Given the description of an element on the screen output the (x, y) to click on. 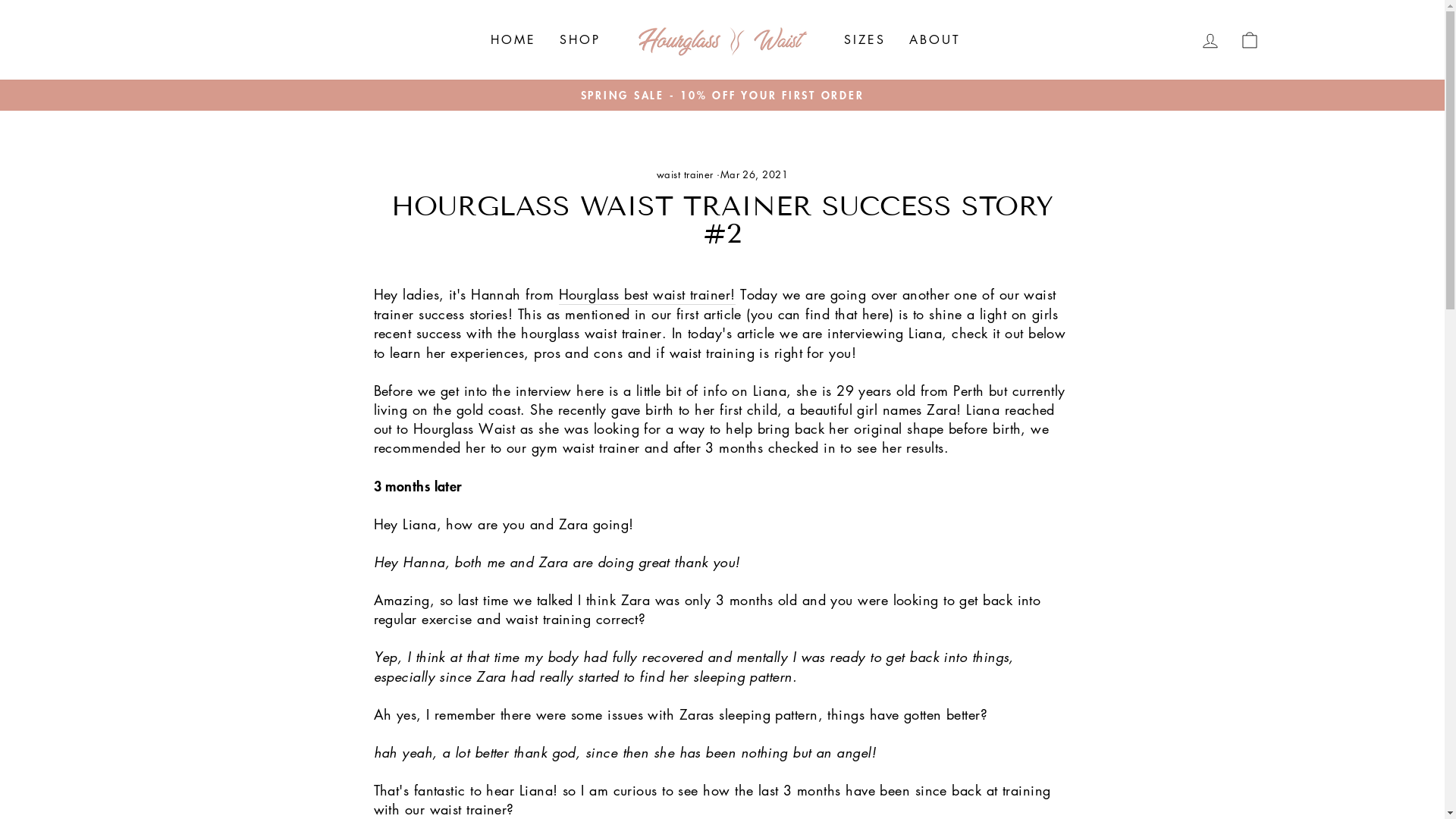
HOME Element type: text (513, 39)
LOG IN Element type: text (1210, 39)
SHOP Element type: text (580, 39)
Skip to content Element type: text (0, 0)
SIZES Element type: text (864, 39)
ABOUT Element type: text (934, 39)
waist trainer Element type: text (684, 173)
CART Element type: text (1249, 39)
Hourglass best waist trainer! Element type: text (646, 294)
